Given the description of an element on the screen output the (x, y) to click on. 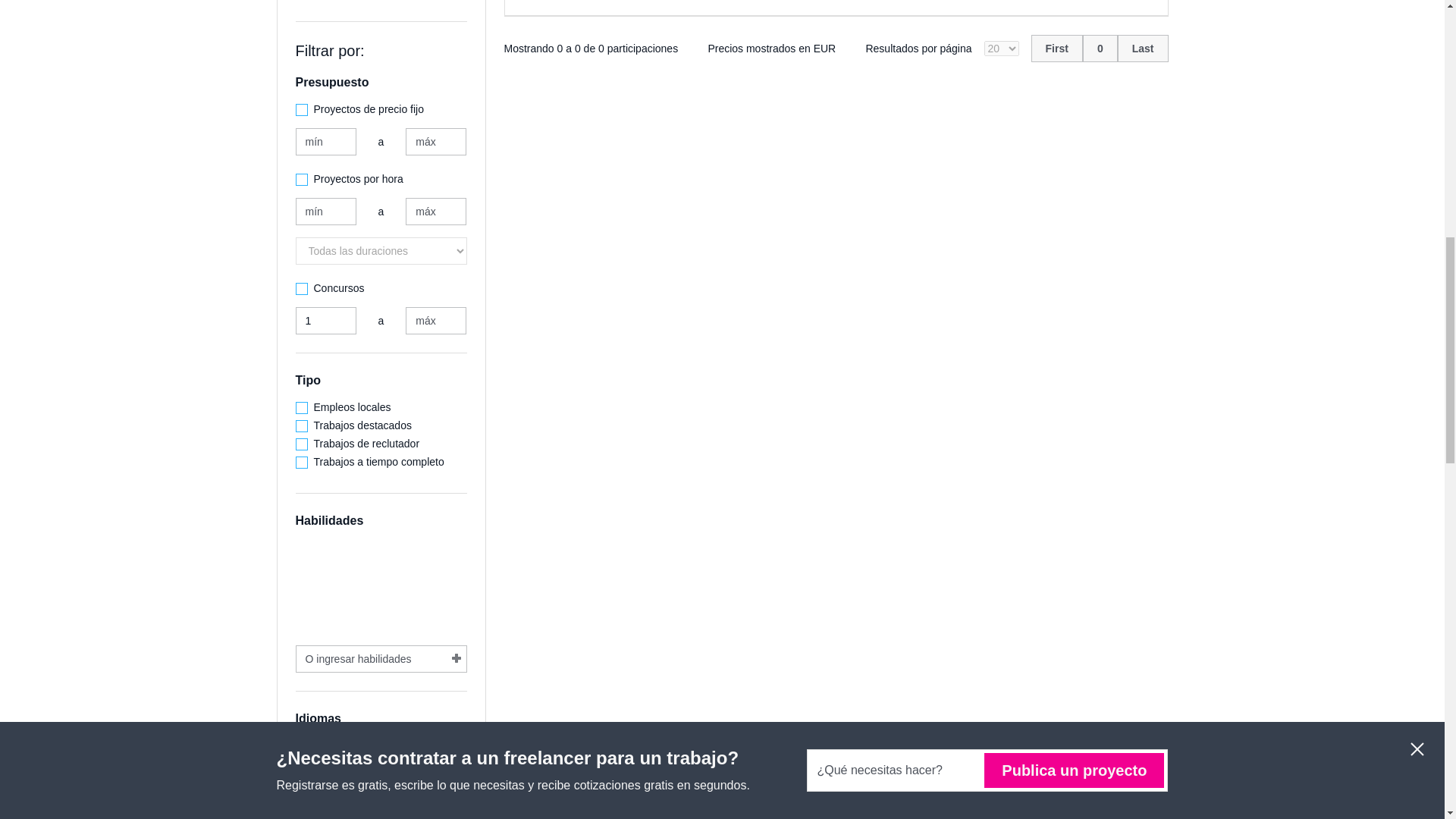
0 (1100, 48)
Last (1143, 48)
1 (325, 320)
First (1056, 48)
